Given the description of an element on the screen output the (x, y) to click on. 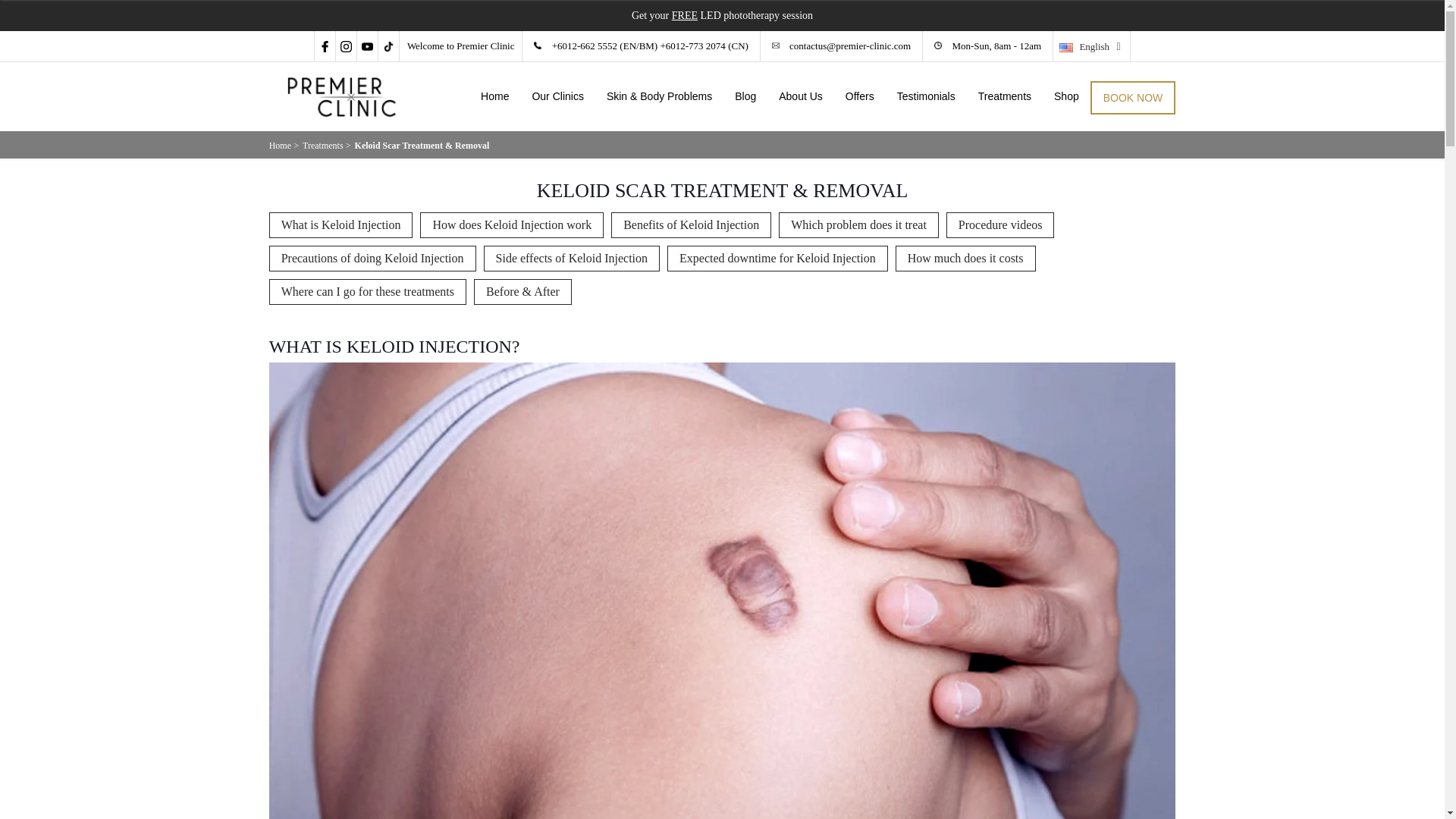
Treatments (322, 145)
Expected downtime for Keloid Injection (777, 258)
About Us (800, 95)
Benefits of Keloid Injection (691, 225)
Treatments (1004, 95)
Home (493, 95)
Testimonials (925, 95)
Get your FREE LED phototherapy session (721, 15)
How much does it costs (965, 258)
BOOK NOW (1133, 97)
Which problem does it treat (858, 225)
English (1090, 44)
Blog (745, 95)
Side effects of Keloid Injection (572, 258)
Offers (859, 95)
